Given the description of an element on the screen output the (x, y) to click on. 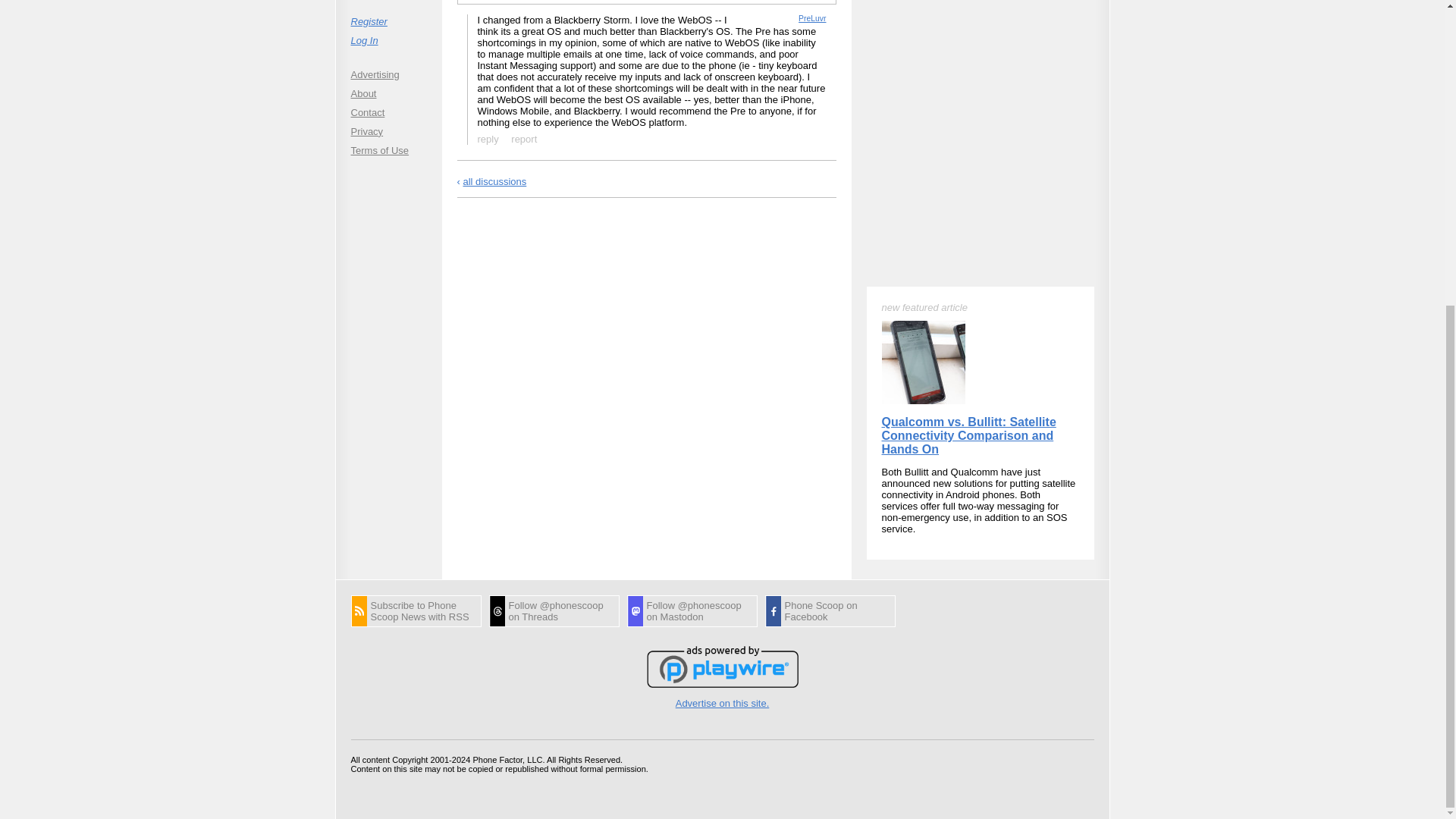
Log In (387, 39)
Phone Scoop: News (415, 611)
report (514, 0)
PreLuvr (811, 18)
Subscribe to Phone Scoop News with RSS (415, 611)
Contact (387, 112)
About (387, 92)
reply (487, 138)
Privacy (387, 130)
